Given the description of an element on the screen output the (x, y) to click on. 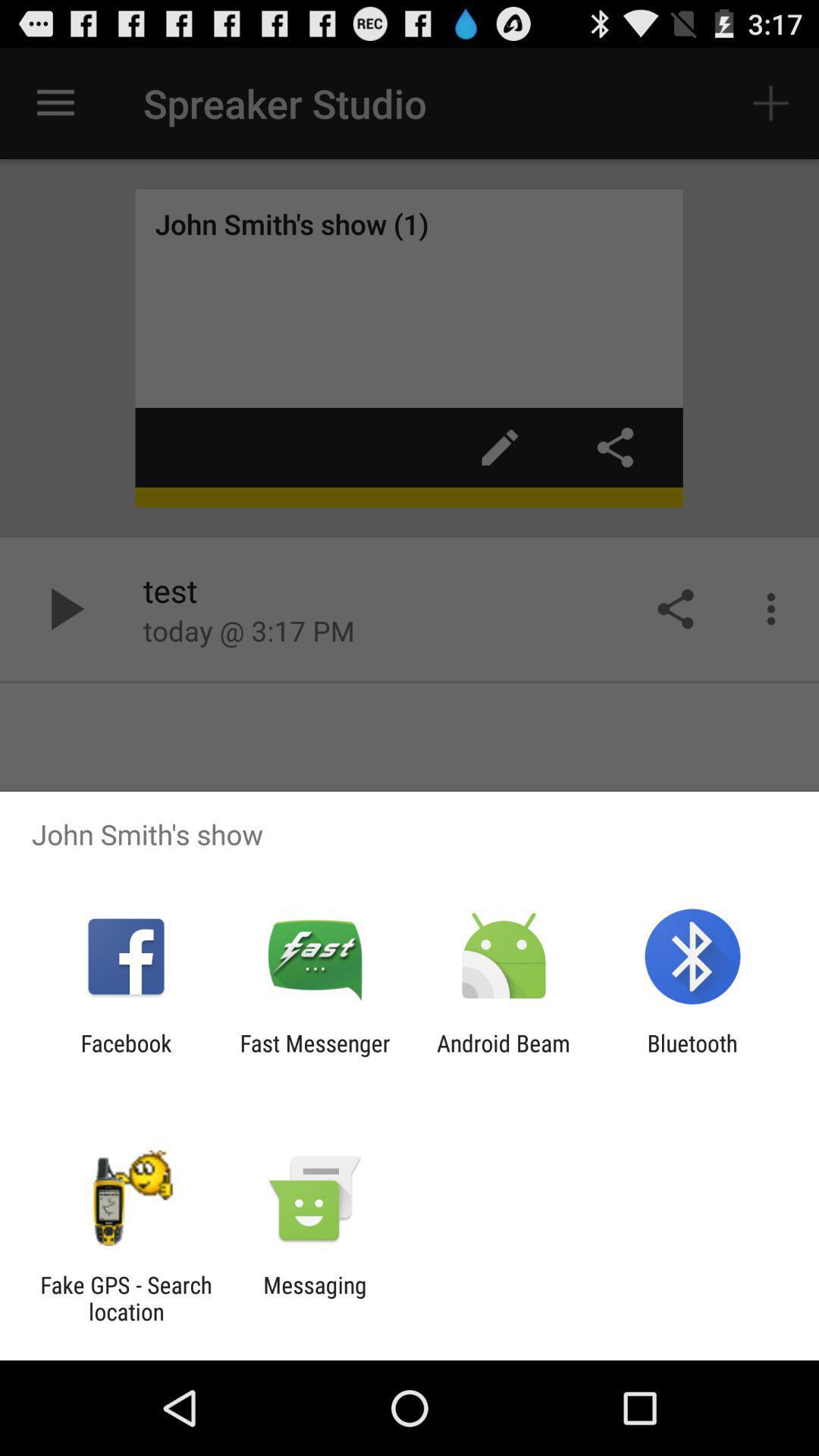
press the icon at the bottom right corner (692, 1056)
